Given the description of an element on the screen output the (x, y) to click on. 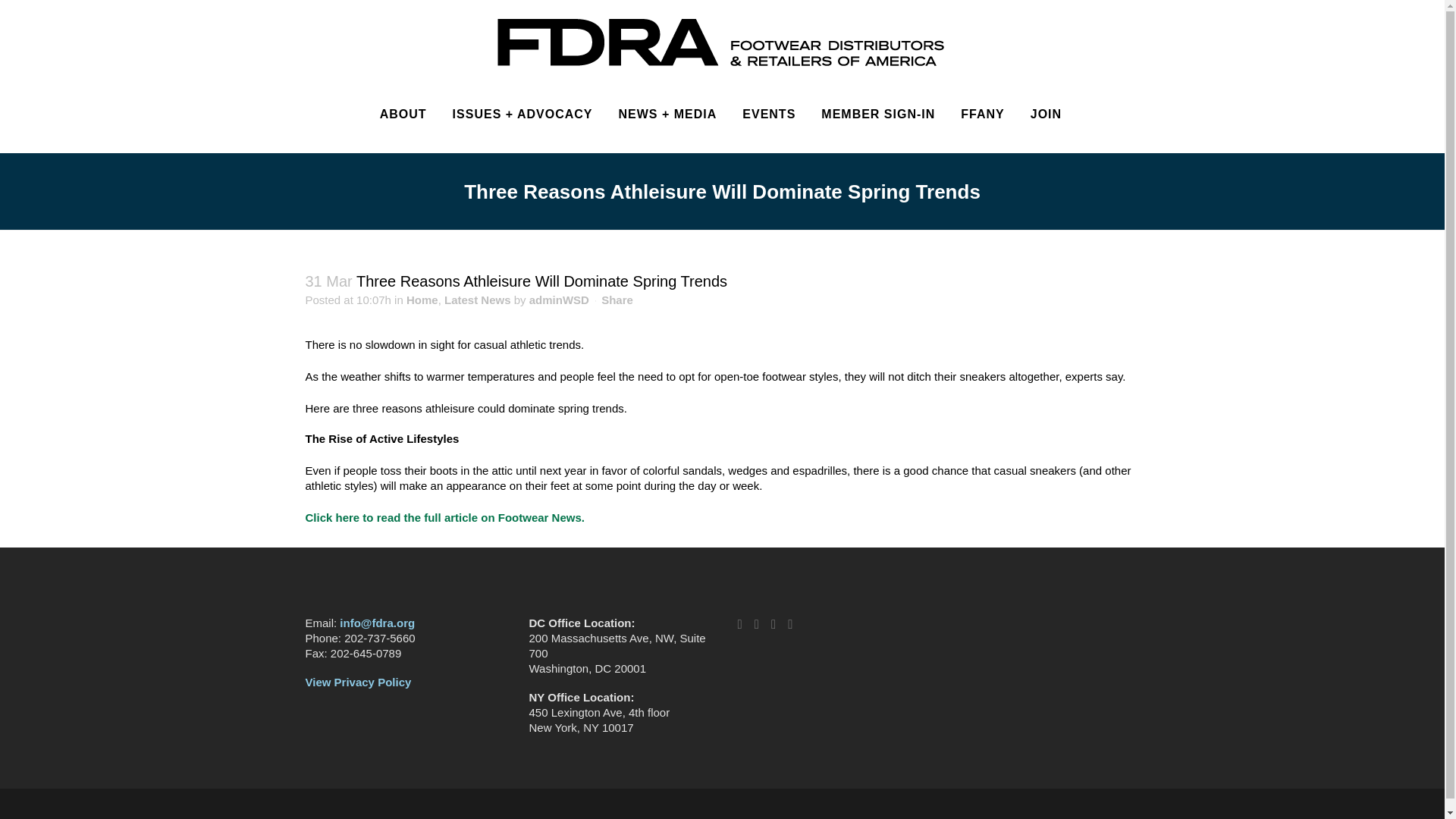
EVENTS (768, 114)
FFANY (981, 114)
MEMBER SIGN-IN (877, 114)
ABOUT (402, 114)
